Given the description of an element on the screen output the (x, y) to click on. 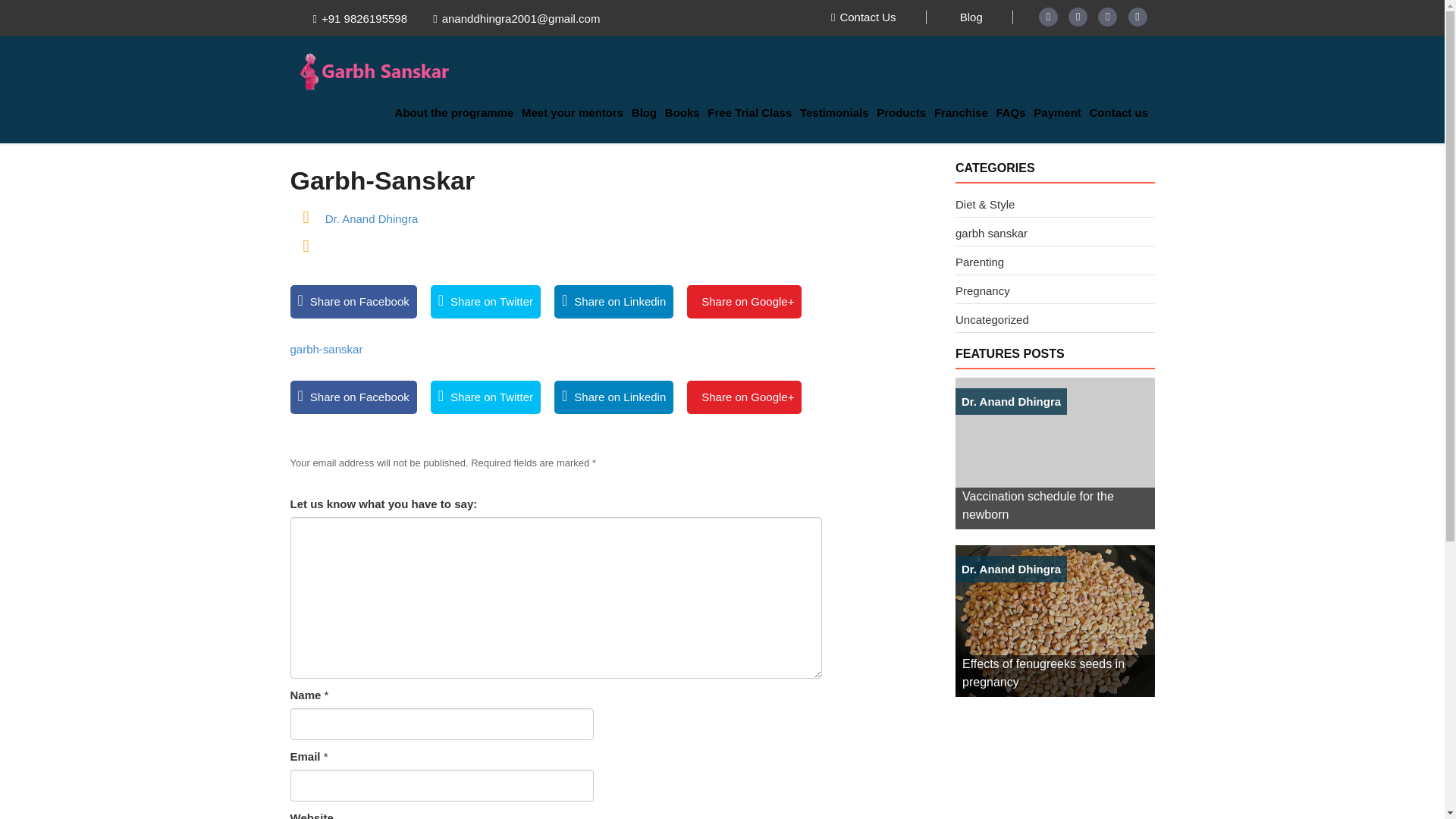
FAQs (1014, 112)
Meet your mentors (576, 112)
share with linkedin (613, 397)
Testimonials (837, 112)
Parenting (979, 261)
Payment (1061, 112)
Contact Us (864, 17)
Share on Facebook (353, 397)
Franchise (964, 112)
share with facebook (353, 301)
About the programme (457, 112)
Share on Facebook (353, 301)
share with google plus (743, 301)
share with twitter (485, 397)
share with linkedin (613, 301)
